Given the description of an element on the screen output the (x, y) to click on. 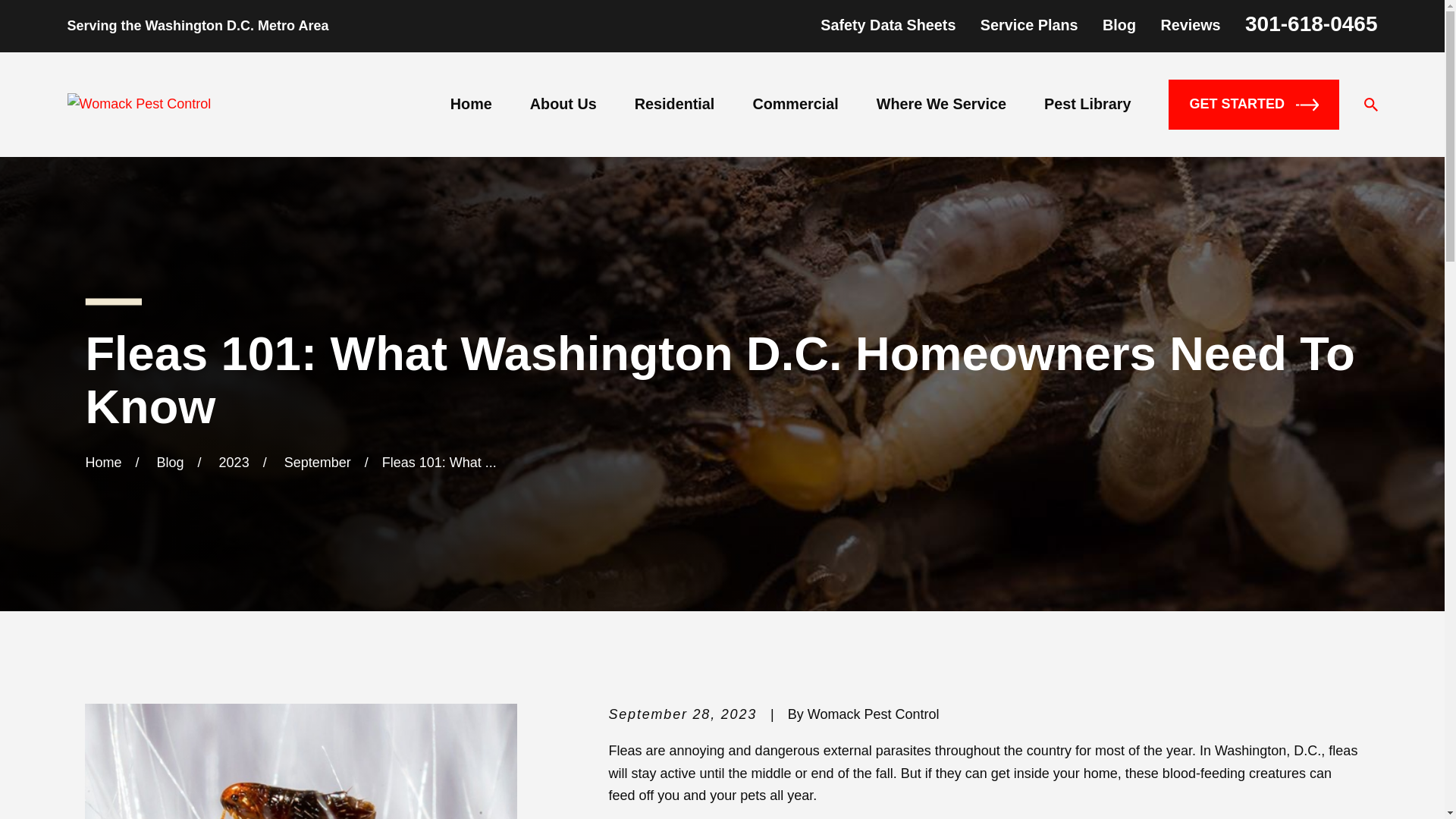
Residential (674, 104)
Commercial (795, 104)
Service Plans (1028, 24)
Reviews (1190, 24)
Where We Service (941, 104)
Pest Library (1087, 104)
Home (138, 104)
Home (470, 104)
About Us (562, 104)
Safety Data Sheets (888, 24)
301-618-0465 (1310, 24)
Go Home (102, 462)
Blog (1118, 24)
